Given the description of an element on the screen output the (x, y) to click on. 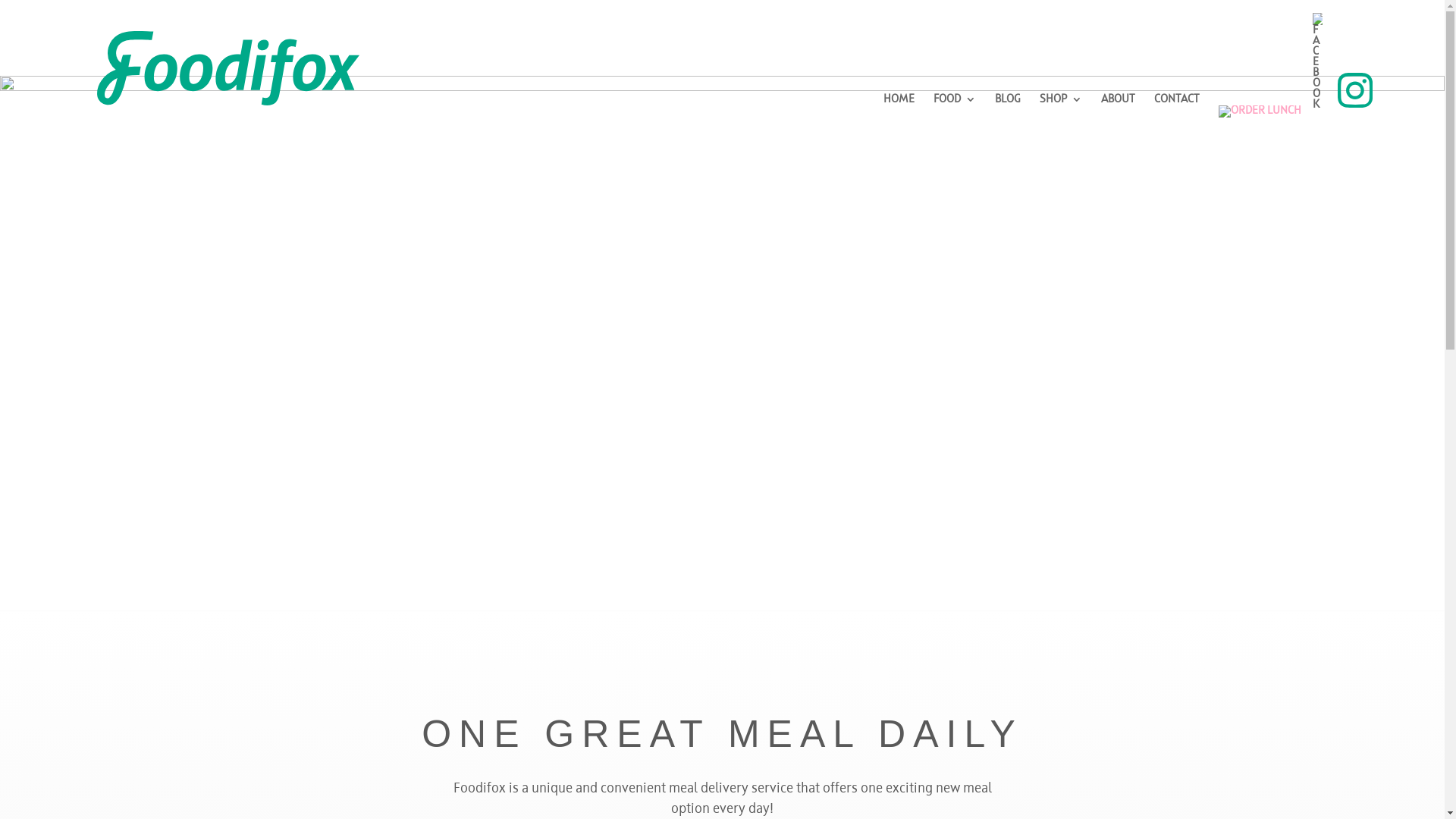
CONTACT Element type: text (1176, 106)
BLOG Element type: text (1007, 106)
HOME Element type: text (898, 106)
ABOUT Element type: text (1118, 106)
FOOD Element type: text (954, 106)
SHOP Element type: text (1060, 106)
lunch banner higher-02 Element type: hover (722, 350)
